Given the description of an element on the screen output the (x, y) to click on. 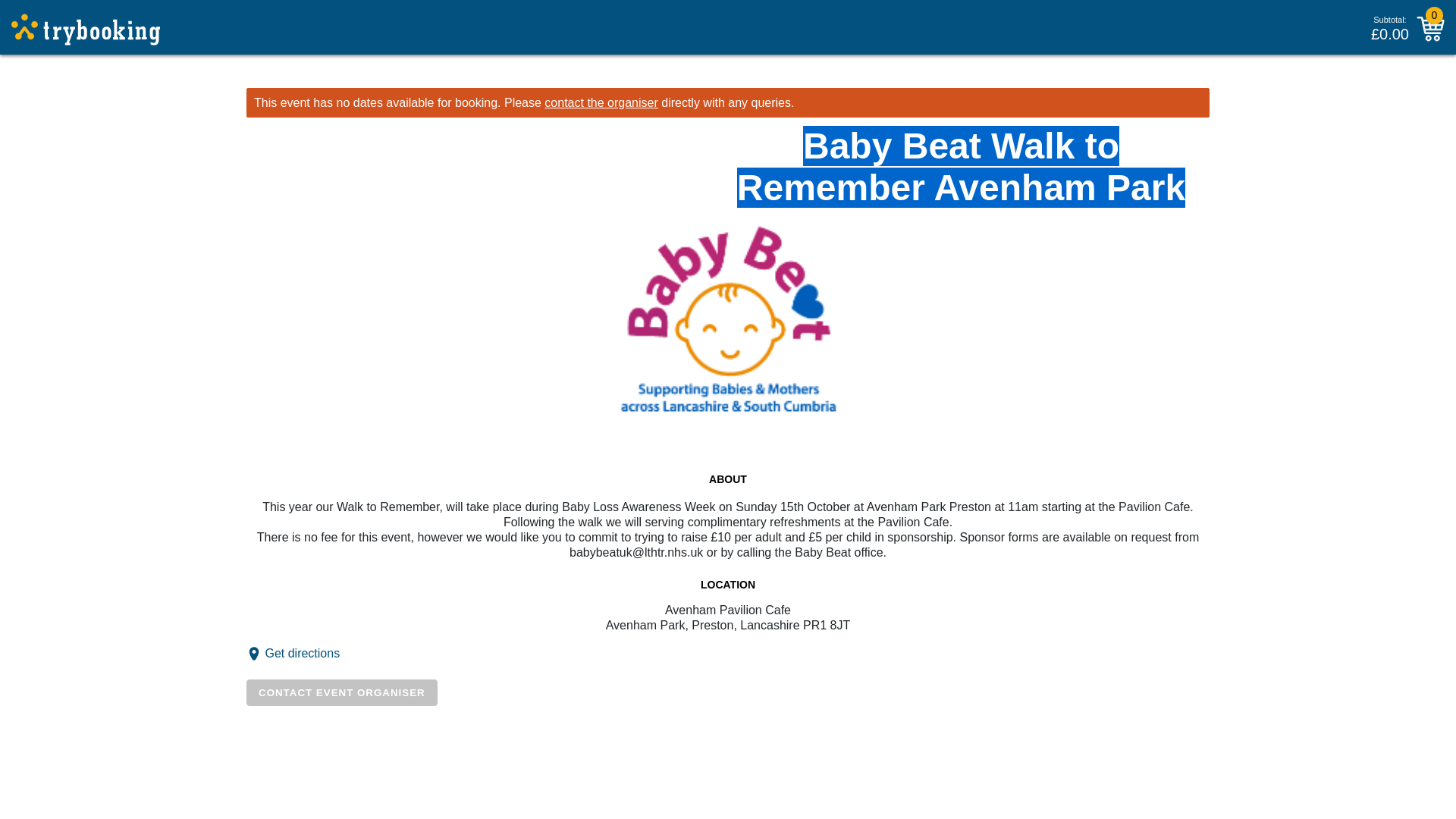
CONTACT EVENT ORGANISER (342, 692)
Get directions (301, 653)
TryBooking (85, 29)
contact the organiser (601, 102)
